Given the description of an element on the screen output the (x, y) to click on. 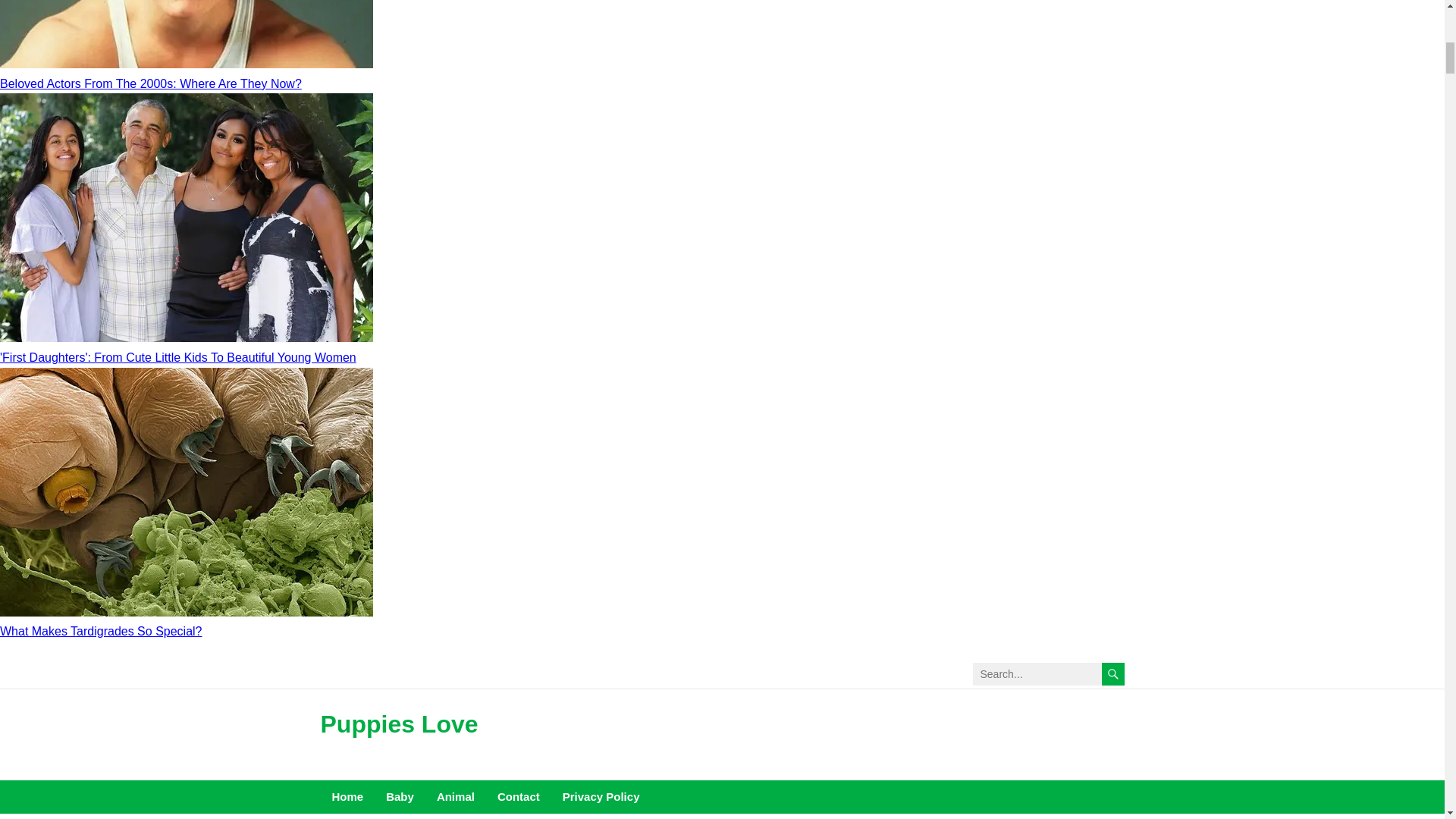
Baby (399, 797)
Privacy Policy (600, 797)
Animal (455, 797)
Home (347, 797)
Contact (518, 797)
Puppies Love (398, 723)
